Given the description of an element on the screen output the (x, y) to click on. 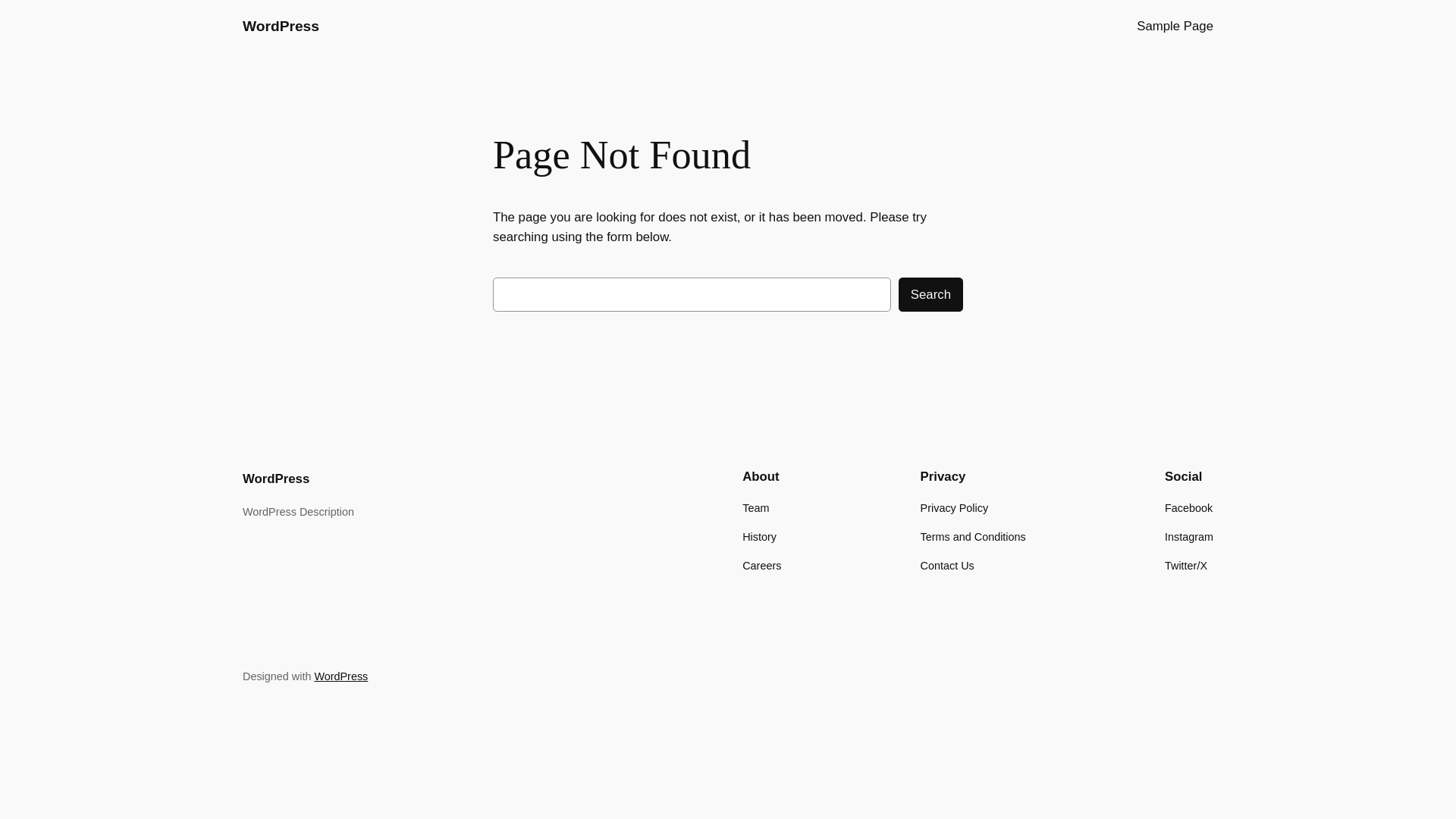
Instagram Element type: text (1188, 536)
Twitter/X Element type: text (1185, 565)
Sample Page Element type: text (1174, 26)
History Element type: text (759, 536)
Facebook Element type: text (1188, 507)
WordPress Element type: text (275, 478)
Privacy Policy Element type: text (954, 507)
Team Element type: text (755, 507)
Search Element type: text (930, 294)
Contact Us Element type: text (947, 565)
Careers Element type: text (761, 565)
WordPress Element type: text (340, 676)
WordPress Element type: text (280, 26)
Terms and Conditions Element type: text (973, 536)
